Given the description of an element on the screen output the (x, y) to click on. 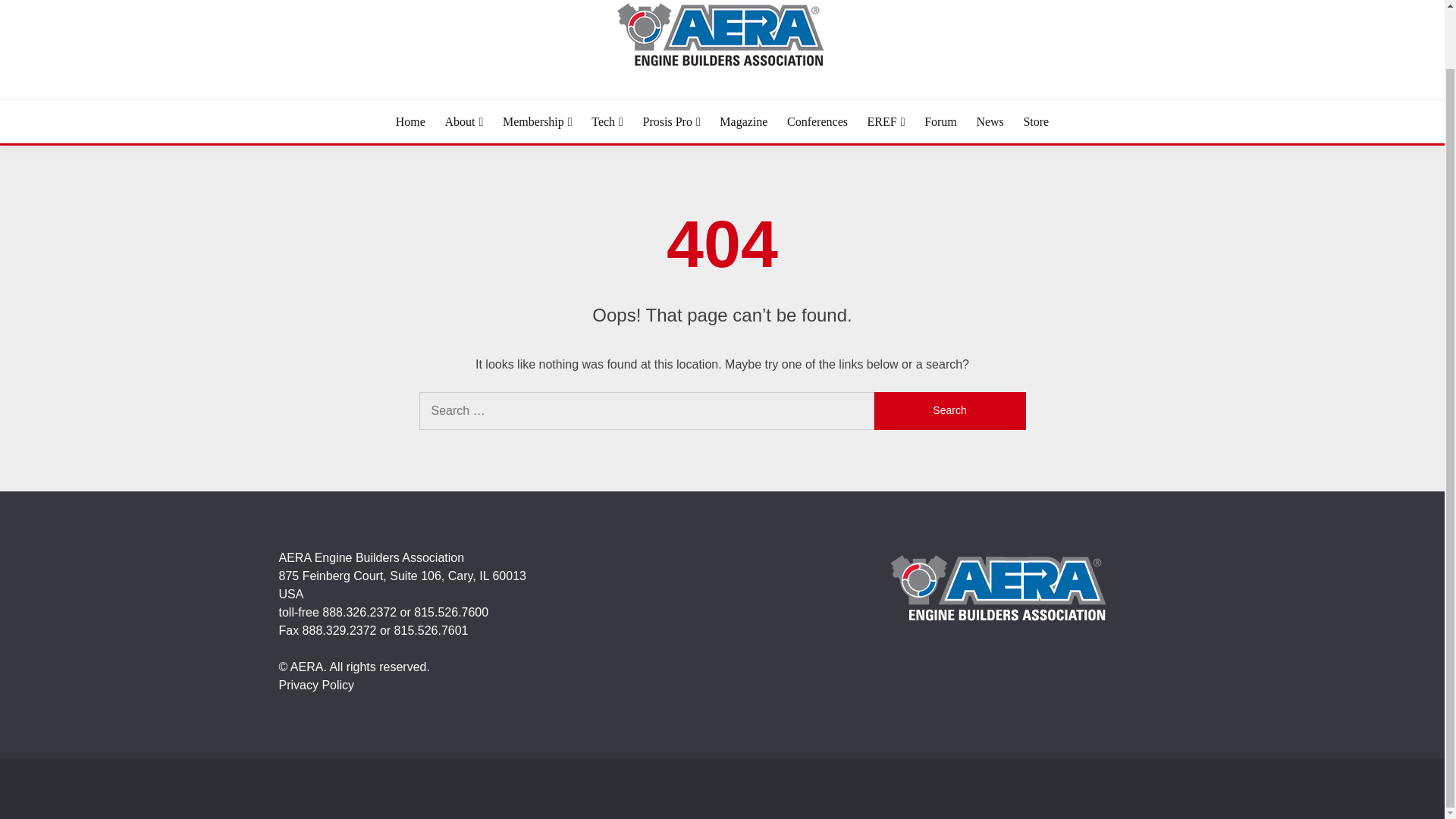
Prosis Pro (671, 121)
About (463, 121)
AERA (343, 104)
Home (410, 121)
Membership (537, 121)
Search (949, 410)
Tech (607, 121)
Search (949, 410)
